Given the description of an element on the screen output the (x, y) to click on. 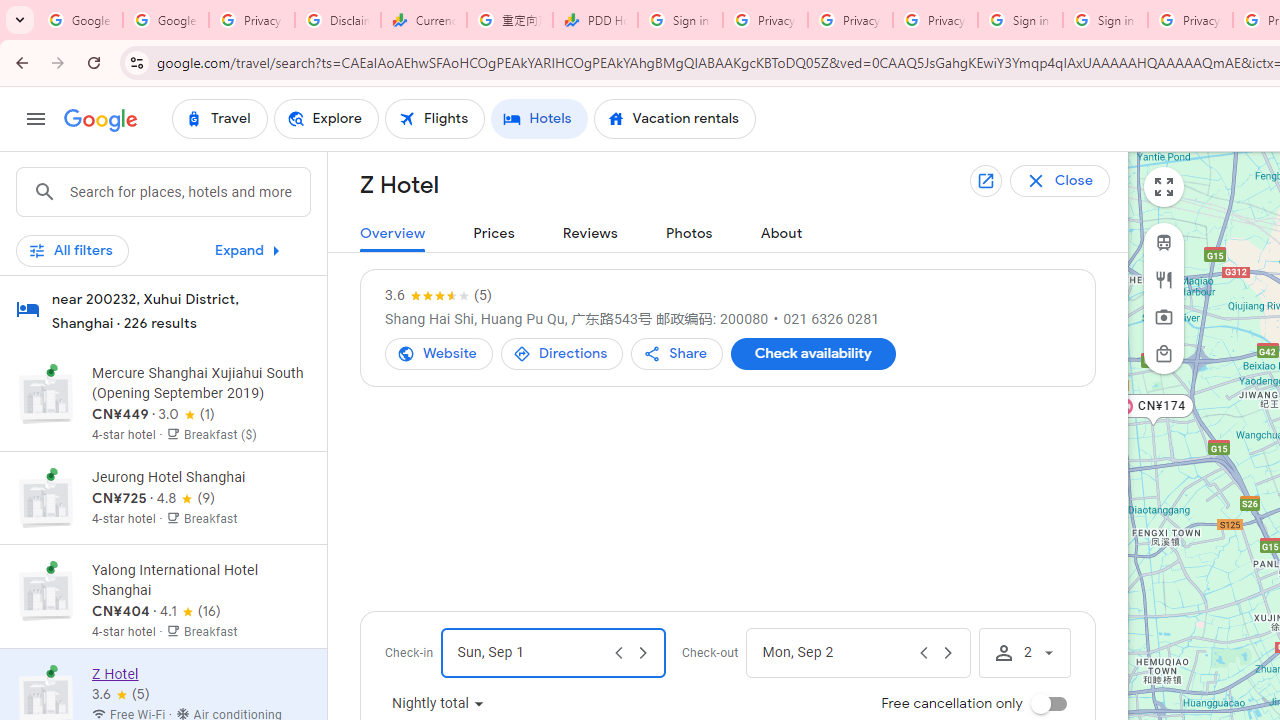
Share (677, 353)
Number of travelers. Current number of travelers is 2. (1024, 652)
Currencies - Google Finance (424, 20)
Areas for dining (1163, 279)
Main menu (35, 119)
Check-out (836, 652)
Check availability (812, 353)
Reviews (589, 233)
Open Z Hotel in a new tab. (987, 181)
